Given the description of an element on the screen output the (x, y) to click on. 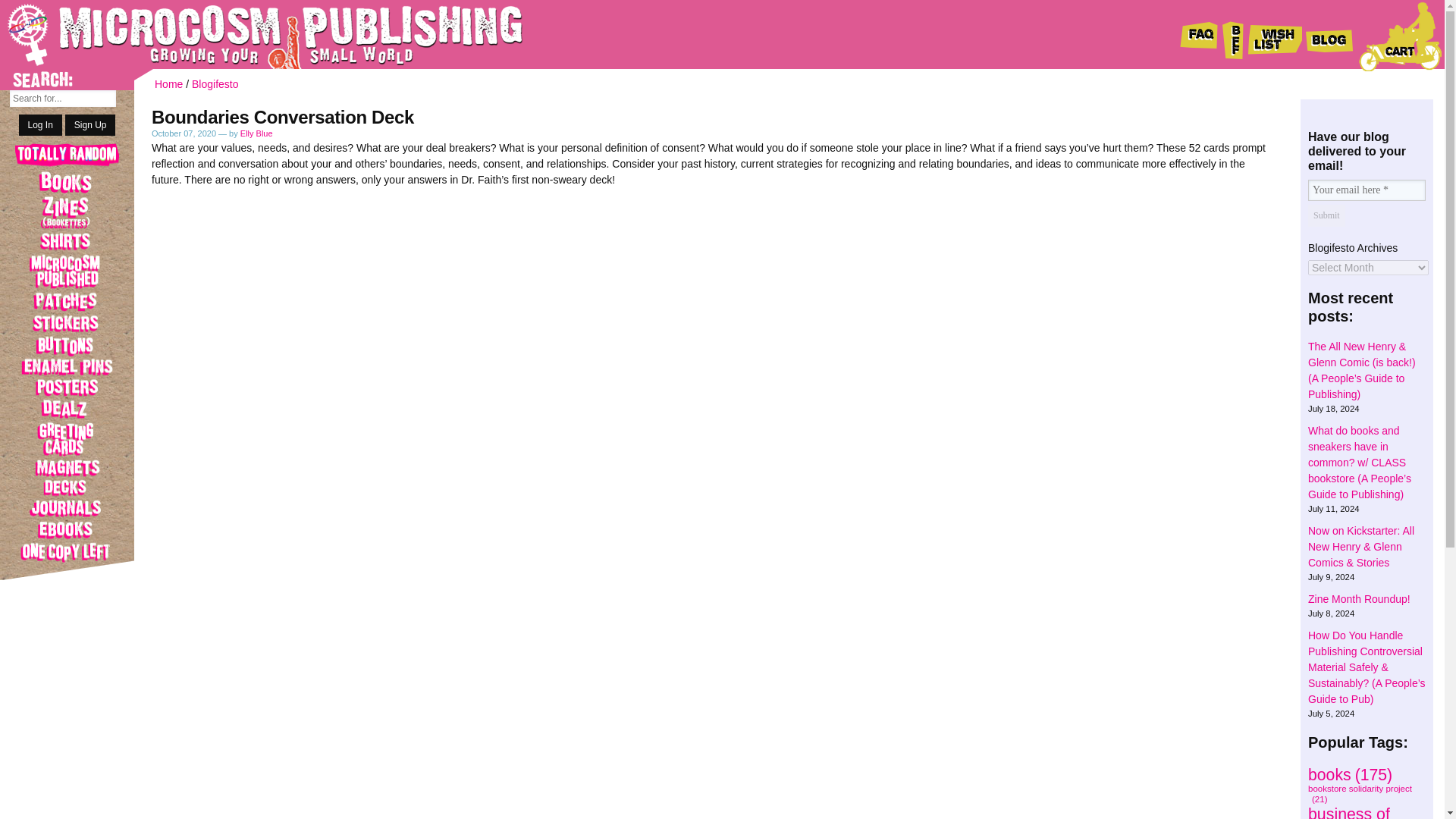
Books (66, 181)
Sign Up (90, 124)
back to Microcosm Publishing homepage (242, 34)
cart (1399, 36)
Shirts (66, 241)
Zines (66, 212)
Your email here (1366, 190)
Log In (40, 124)
Submit (1326, 215)
Totally Random (66, 156)
Jump to totally random title (66, 156)
